Given the description of an element on the screen output the (x, y) to click on. 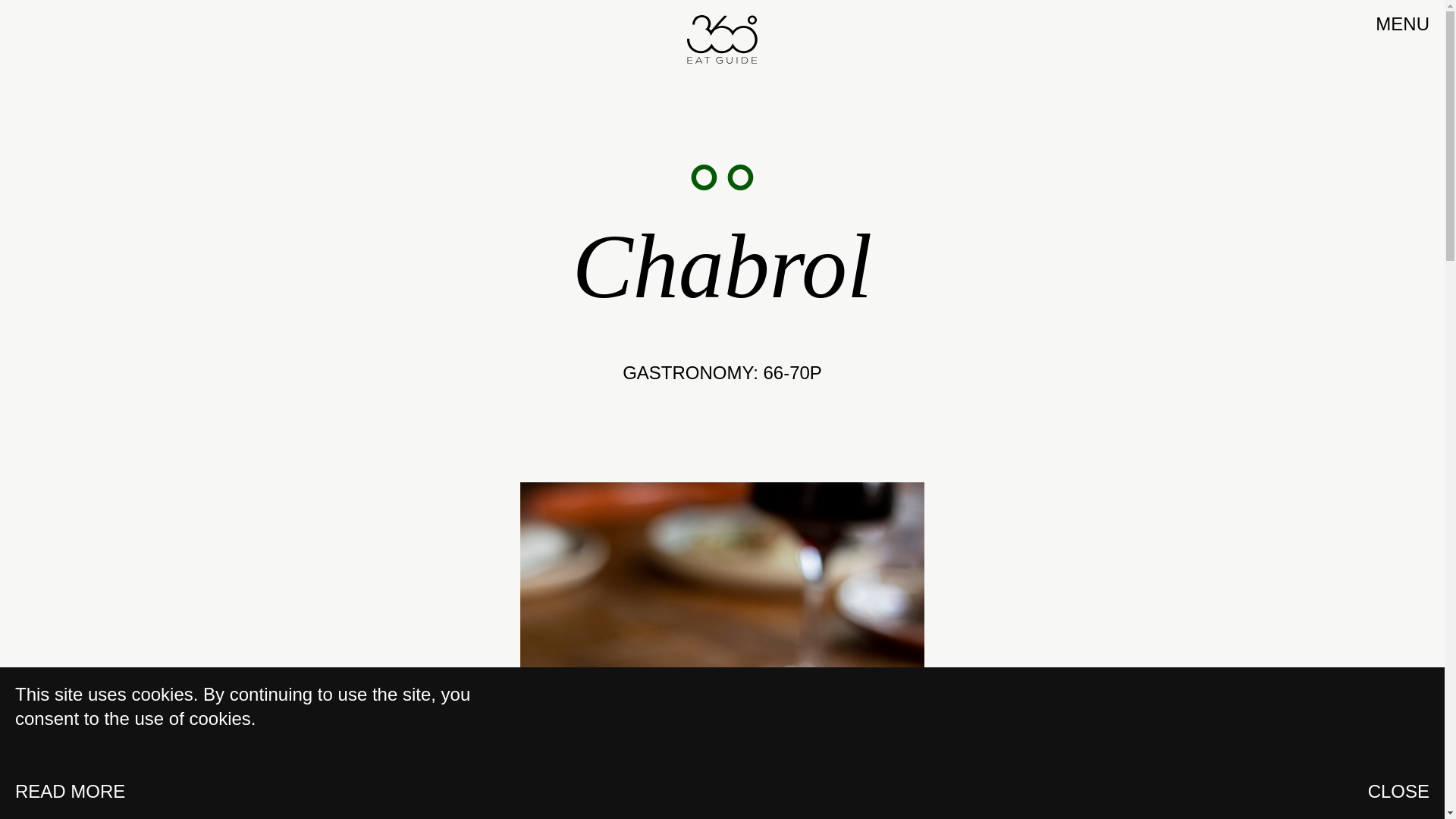
MENU (1402, 24)
CLOSE (1398, 791)
READ MORE (69, 791)
